Given the description of an element on the screen output the (x, y) to click on. 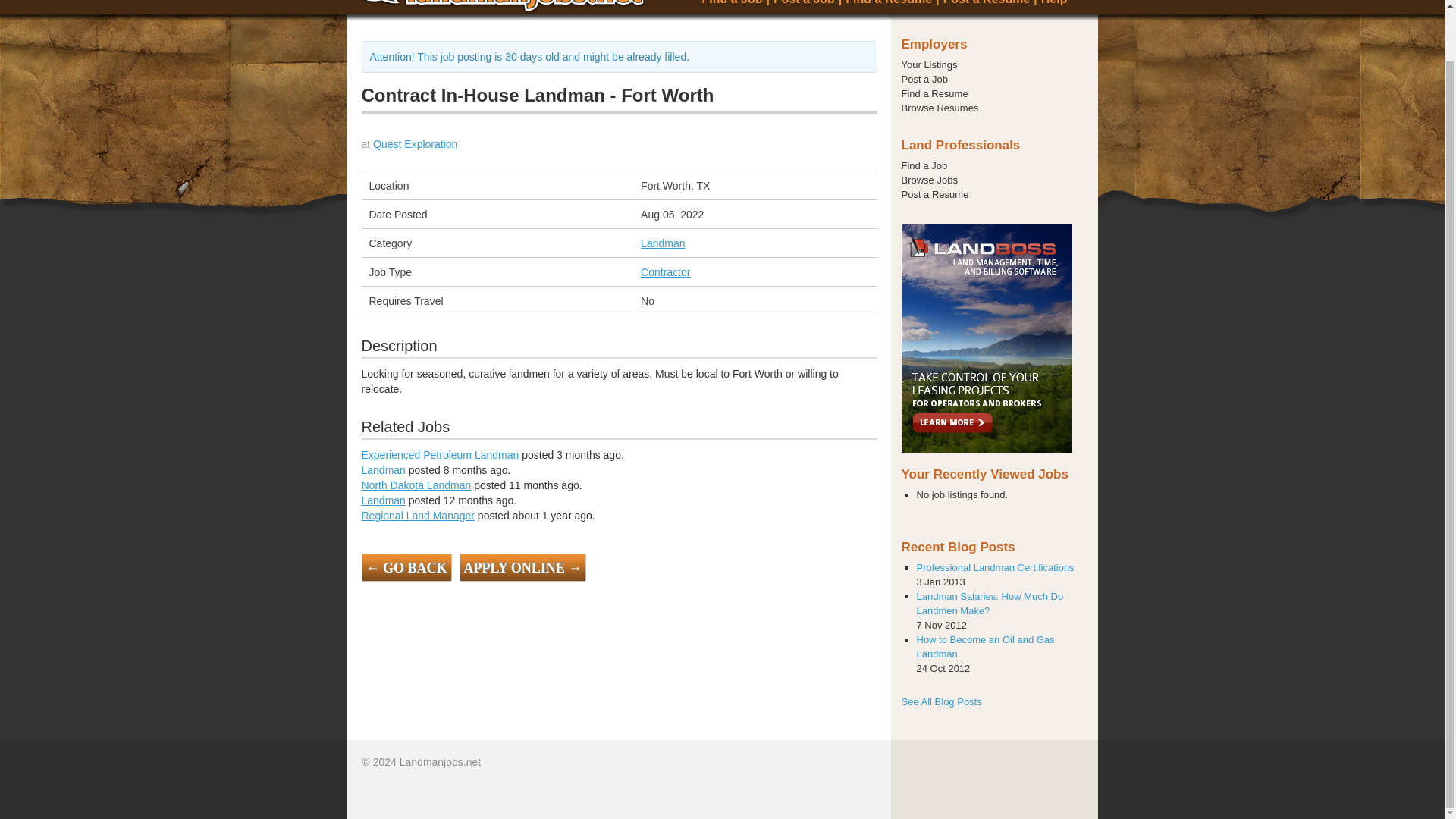
Browse Resumes (939, 107)
Regional Land Manager (417, 515)
Landman (382, 469)
Professional Landman Certifications (994, 567)
Help (1054, 2)
Landman (382, 500)
North Dakota Landman (415, 485)
Permanent link to Professional Landman Certifications (994, 567)
Find a Job (731, 2)
Find a Resume (934, 93)
Contractor (665, 271)
Post a Resume (934, 194)
Post a Resume (986, 2)
Quest Exploration (414, 143)
